Given the description of an element on the screen output the (x, y) to click on. 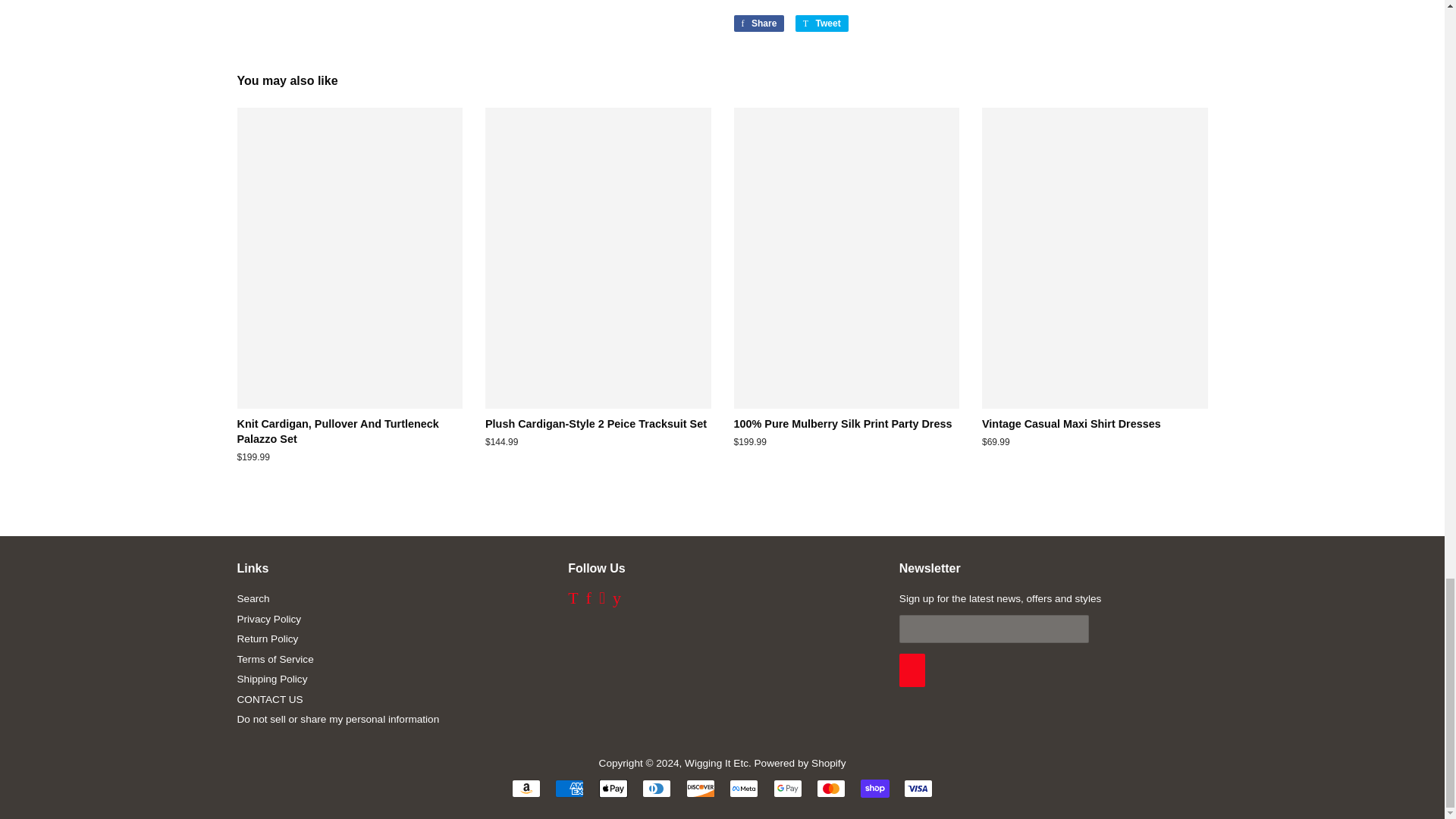
Apple Pay (612, 788)
Amazon (526, 788)
Diners Club (656, 788)
Meta Pay (743, 788)
Discover (699, 788)
Tweet on Twitter (821, 23)
Google Pay (787, 788)
Shop Pay (874, 788)
Share on Facebook (758, 23)
American Express (568, 788)
